Given the description of an element on the screen output the (x, y) to click on. 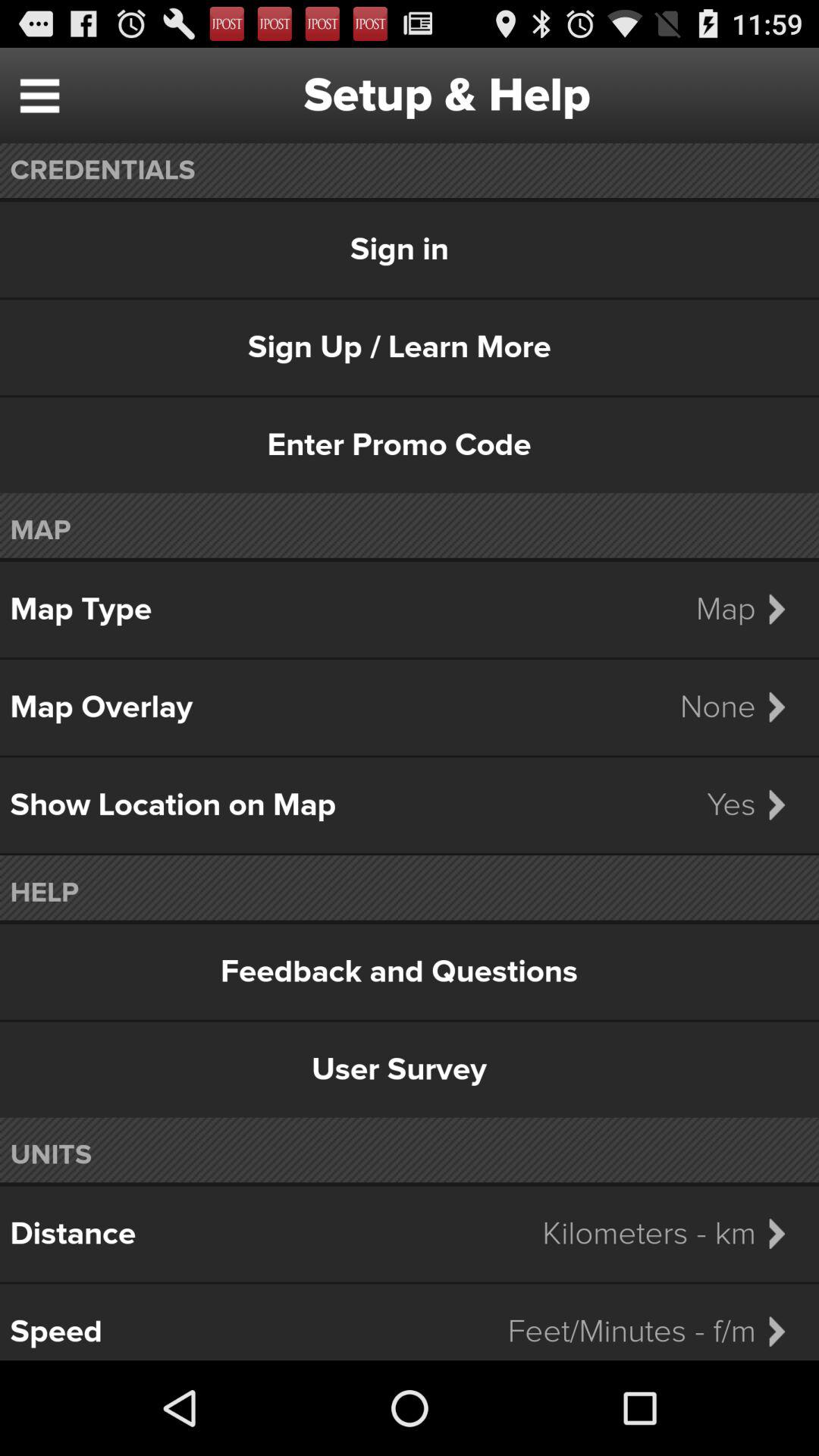
jump until sign up learn icon (409, 347)
